Given the description of an element on the screen output the (x, y) to click on. 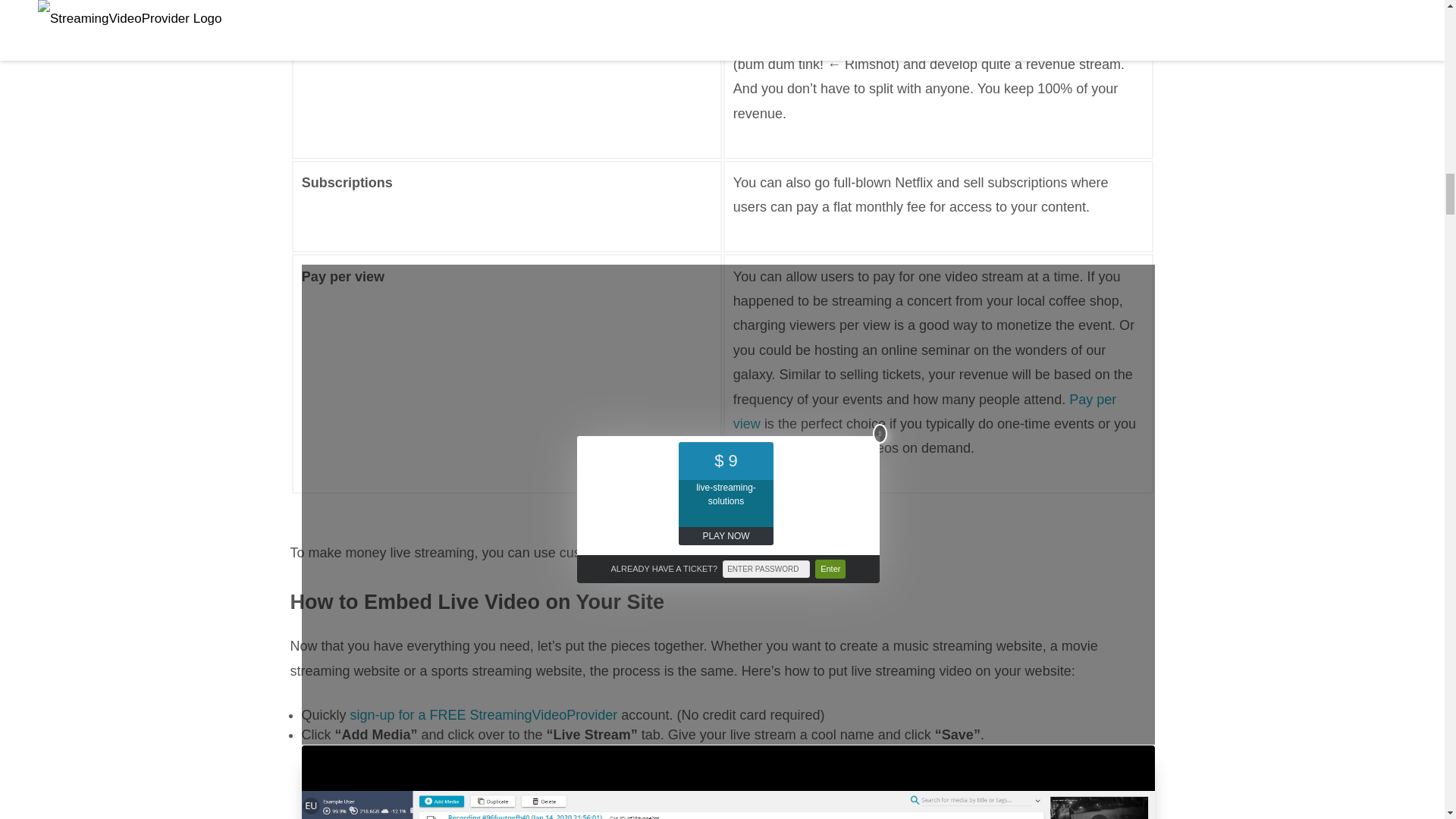
ENTER PASSWORD (765, 569)
